Given the description of an element on the screen output the (x, y) to click on. 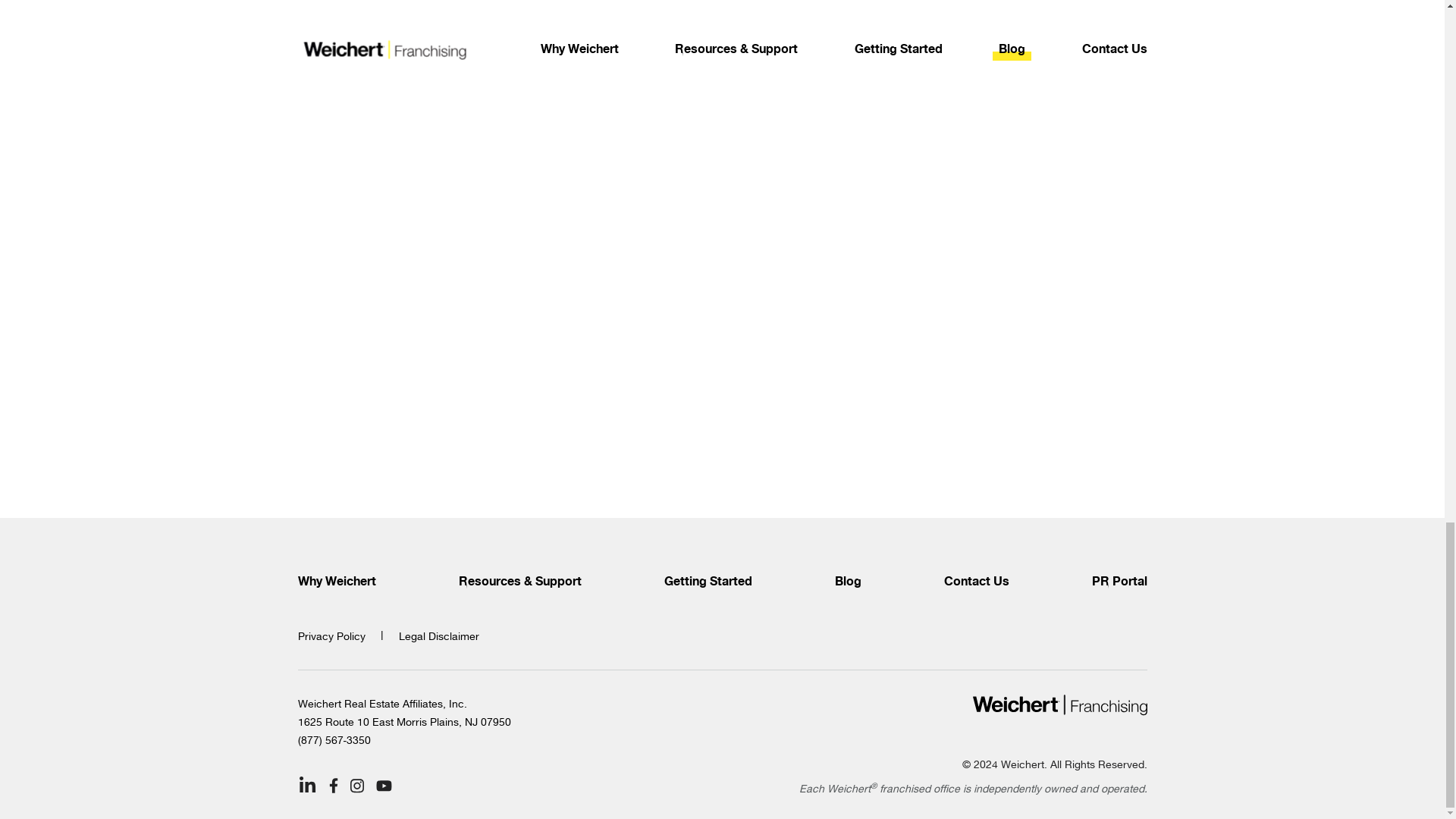
Contact Us (976, 581)
Blog (847, 581)
PR Portal (1119, 581)
Why Weichert (336, 581)
Privacy Policy (331, 635)
Getting Started (707, 581)
Legal Disclaimer (438, 635)
